Given the description of an element on the screen output the (x, y) to click on. 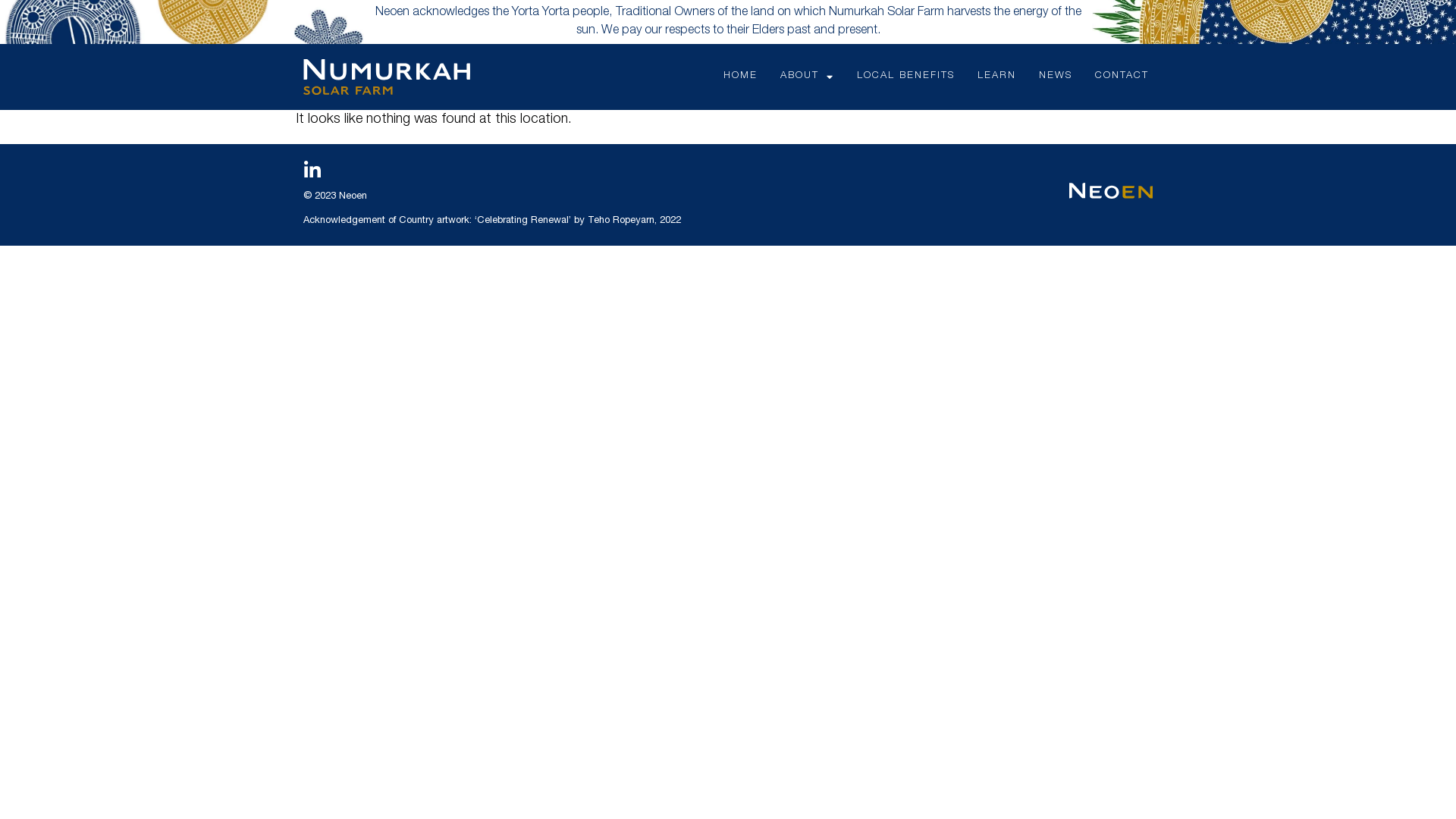
LEARN Element type: text (996, 76)
NEWS Element type: text (1055, 76)
LOCAL BENEFITS Element type: text (905, 76)
ABOUT Element type: text (806, 76)
CONTACT Element type: text (1121, 76)
HOME Element type: text (740, 76)
